Given the description of an element on the screen output the (x, y) to click on. 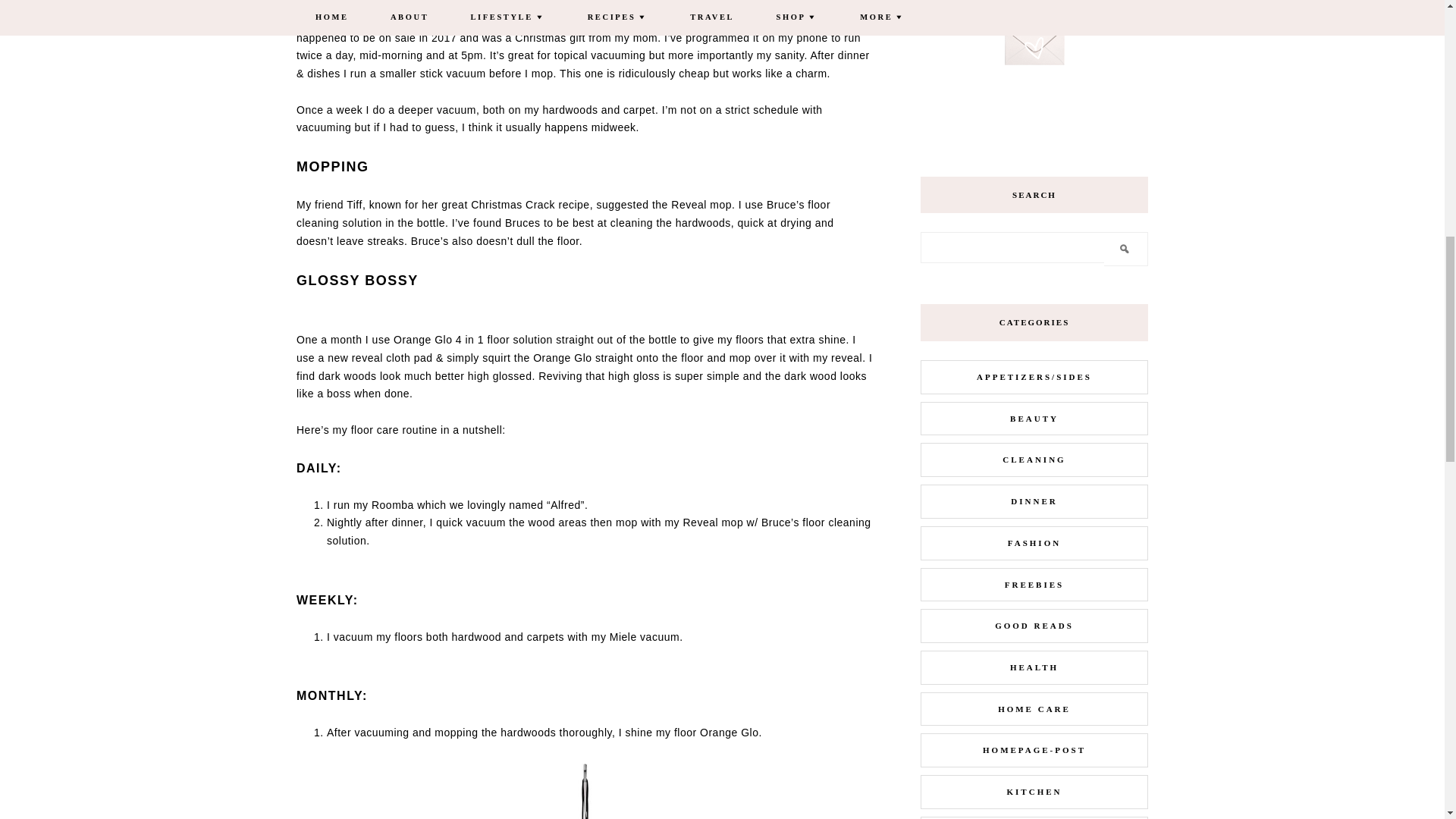
bruce-hardwood-laminate-floor-cleaner (470, 791)
Bissel-3-in-1-stick-vac (584, 791)
